Given the description of an element on the screen output the (x, y) to click on. 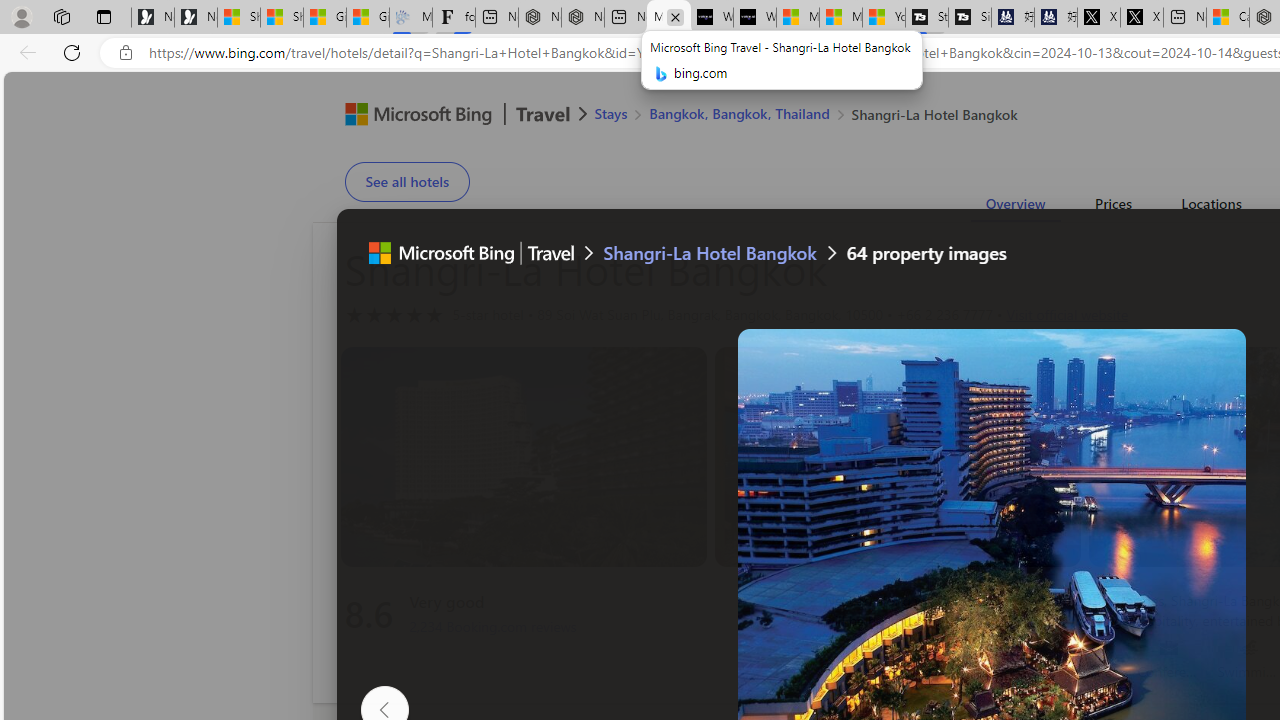
Nordace - #1 Japanese Best-Seller - Siena Smart Backpack (582, 17)
Gilma and Hector both pose tropical trouble for Hawaii (367, 17)
Newsletter Sign Up (196, 17)
Streaming Coverage | T3 (927, 17)
